Given the description of an element on the screen output the (x, y) to click on. 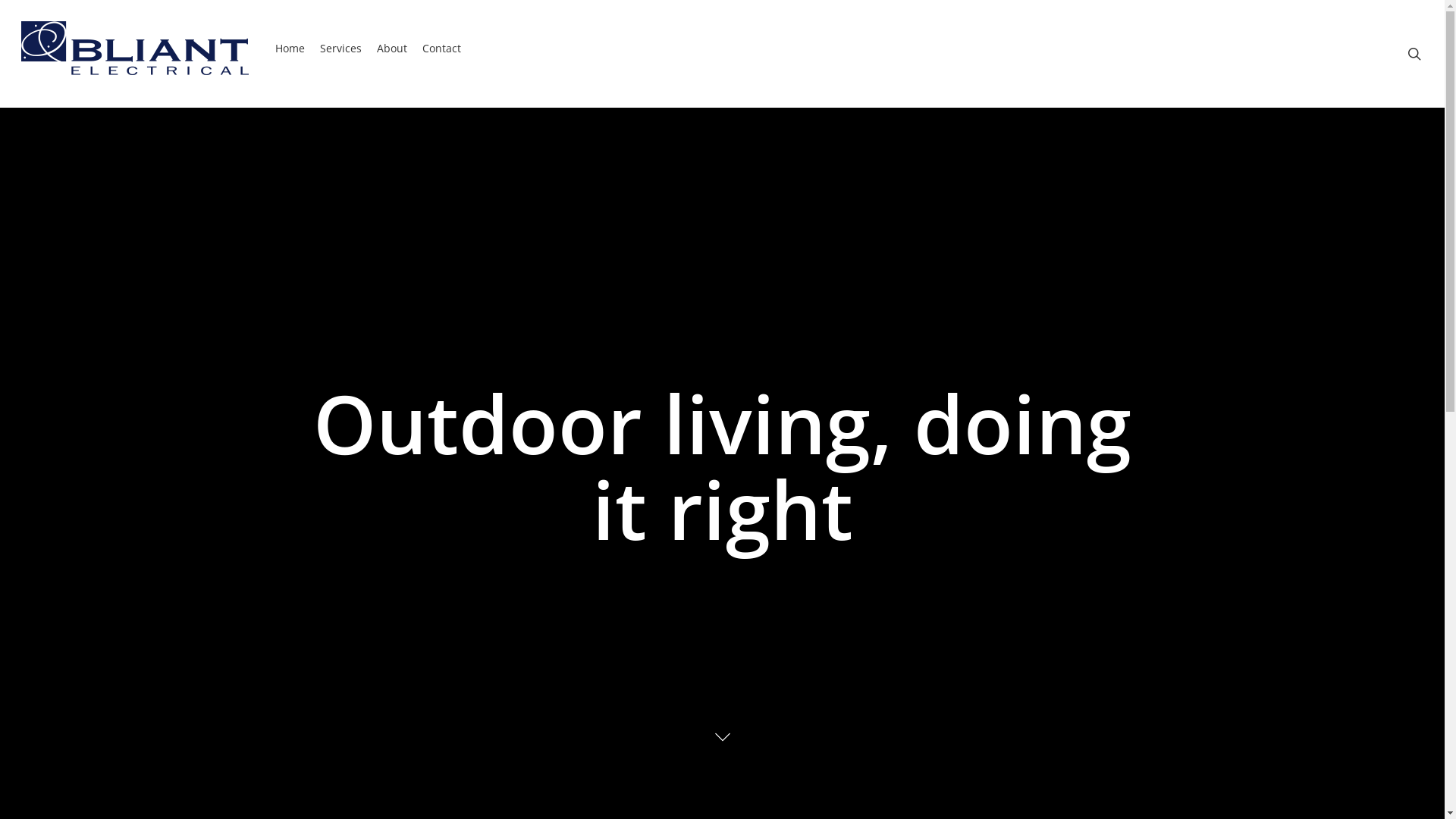
search Element type: text (1414, 53)
About Element type: text (391, 53)
Services Element type: text (340, 53)
Home Element type: text (289, 53)
Contact Element type: text (441, 53)
